Given the description of an element on the screen output the (x, y) to click on. 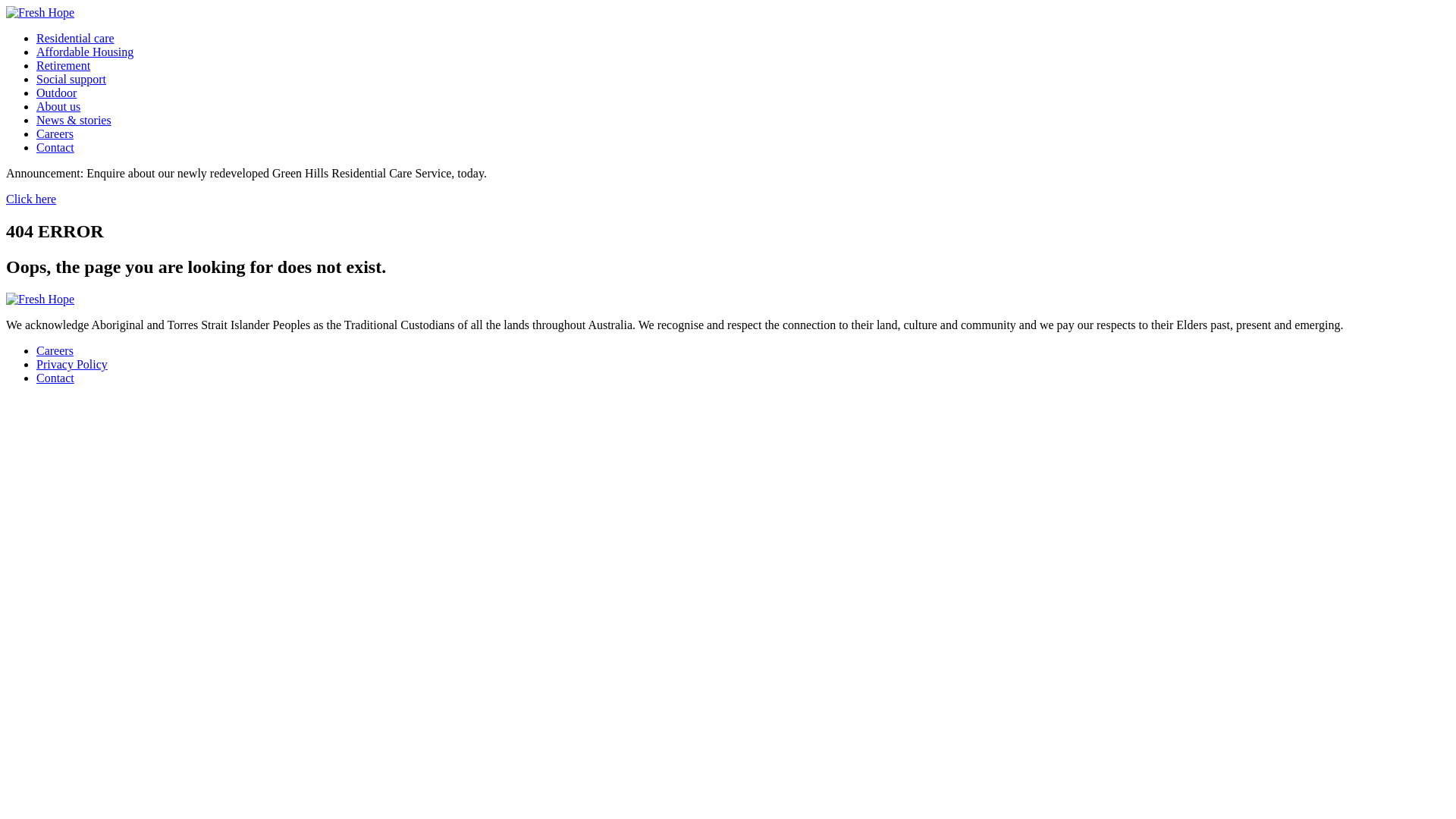
Privacy Policy Element type: text (71, 363)
Contact Element type: text (55, 147)
Click here Element type: text (31, 198)
Residential care Element type: text (75, 37)
Careers Element type: text (54, 350)
Outdoor Element type: text (56, 92)
Social support Element type: text (71, 78)
Contact Element type: text (55, 377)
Careers Element type: text (54, 133)
News & stories Element type: text (73, 119)
Affordable Housing Element type: text (84, 51)
About us Element type: text (58, 106)
Retirement Element type: text (63, 65)
